Given the description of an element on the screen output the (x, y) to click on. 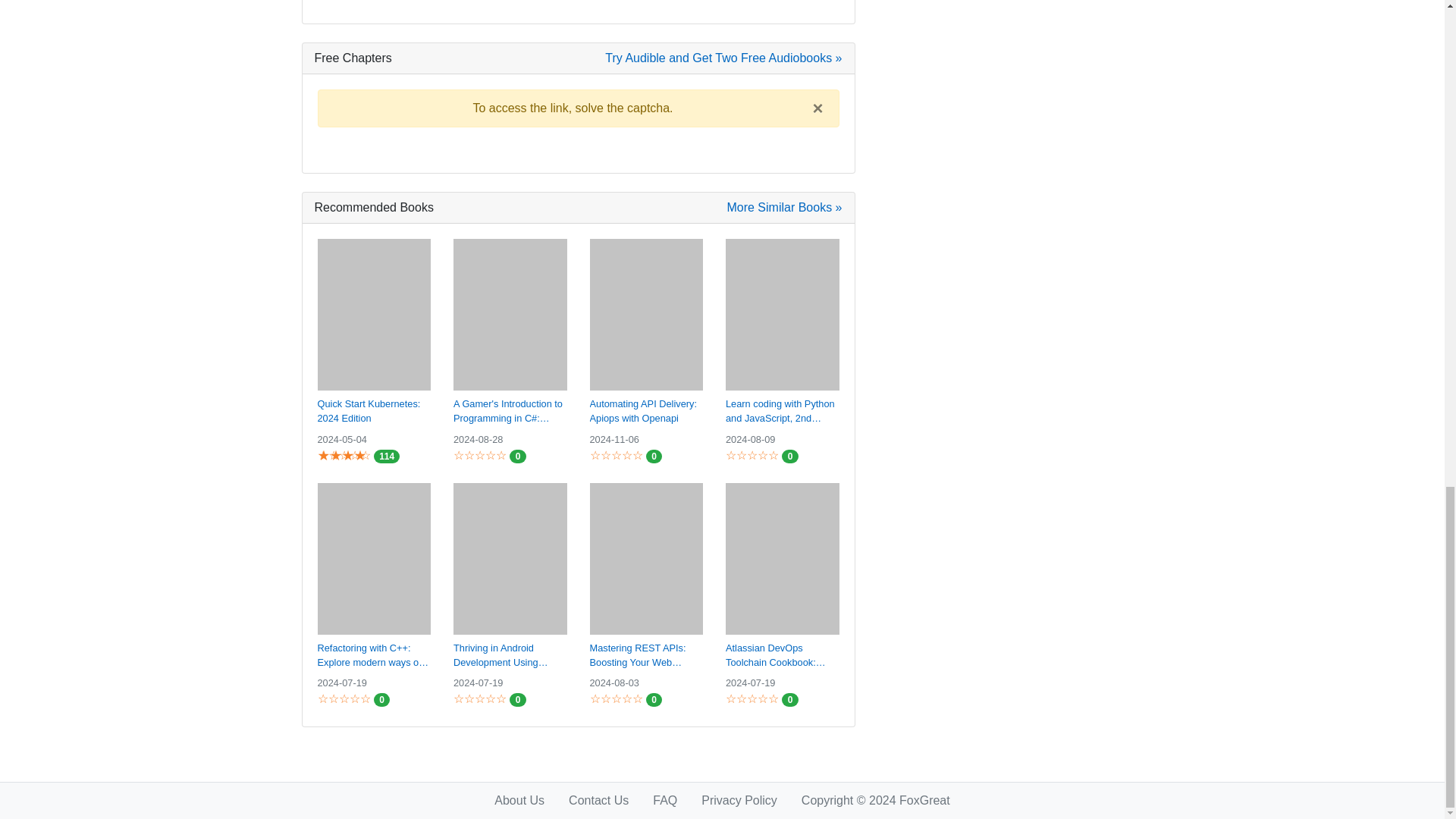
4.6 out of 5 Stars (341, 455)
